Given the description of an element on the screen output the (x, y) to click on. 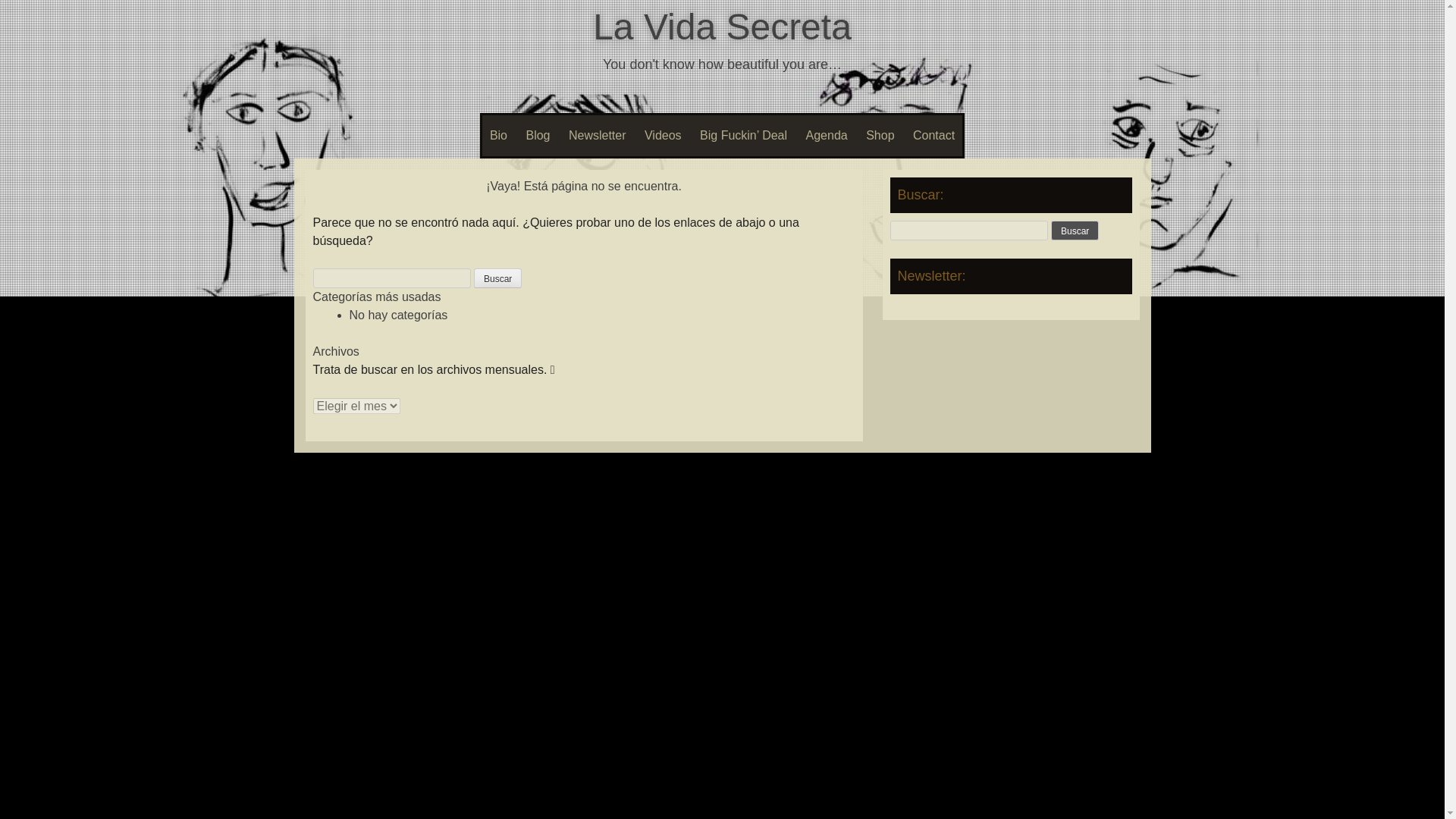
Agenda (826, 135)
Buscar (1075, 230)
Buscar (497, 278)
Contact (933, 135)
Buscar (1075, 230)
Blog (537, 135)
Shop (880, 135)
Buscar (497, 278)
La Vida Secreta (721, 26)
Newsletter (596, 135)
Videos (662, 135)
